Given the description of an element on the screen output the (x, y) to click on. 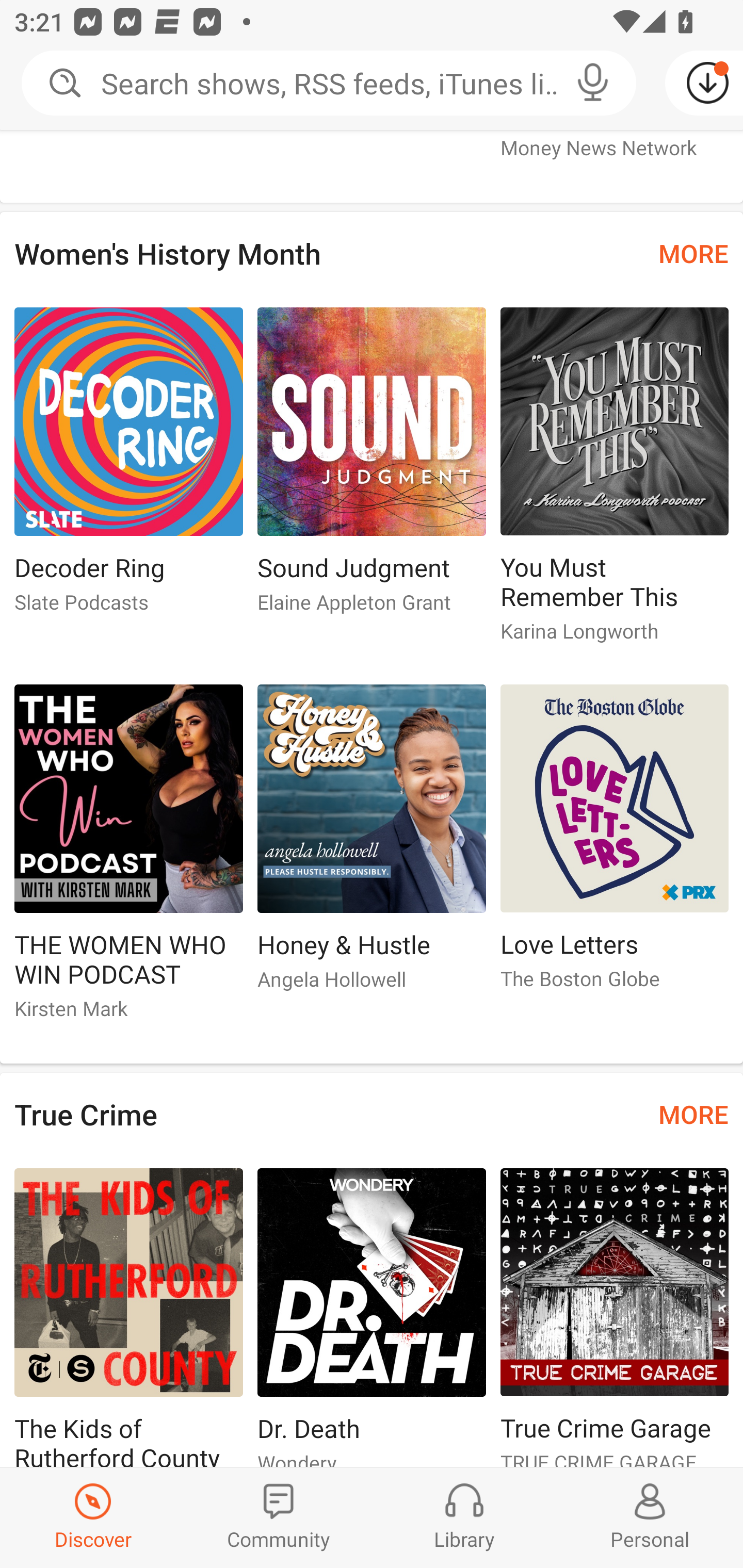
MORE (693, 253)
Decoder Ring Decoder Ring Slate Podcasts (128, 468)
Honey & Hustle Honey & Hustle Angela Hollowell (371, 845)
Love Letters Love Letters The Boston Globe (614, 845)
MORE (693, 1113)
The Kids of Rutherford County (128, 1317)
Dr. Death Dr. Death Wondery (371, 1317)
Discover (92, 1517)
Community (278, 1517)
Library (464, 1517)
Profiles and Settings Personal (650, 1517)
